Given the description of an element on the screen output the (x, y) to click on. 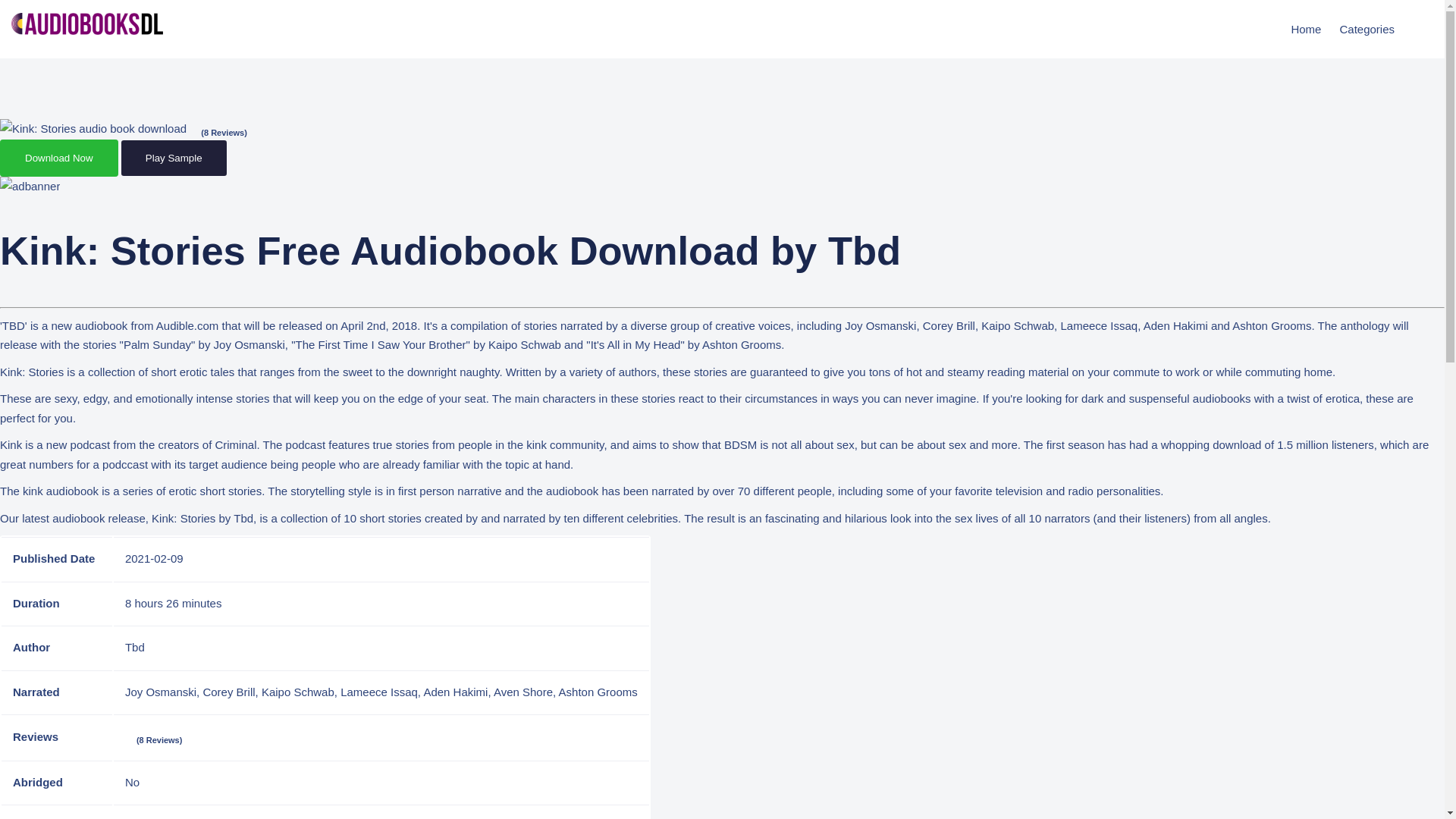
Download Now (58, 157)
Play Sample (173, 158)
Categories (1368, 29)
Tbd (134, 646)
Home (1305, 29)
